Given the description of an element on the screen output the (x, y) to click on. 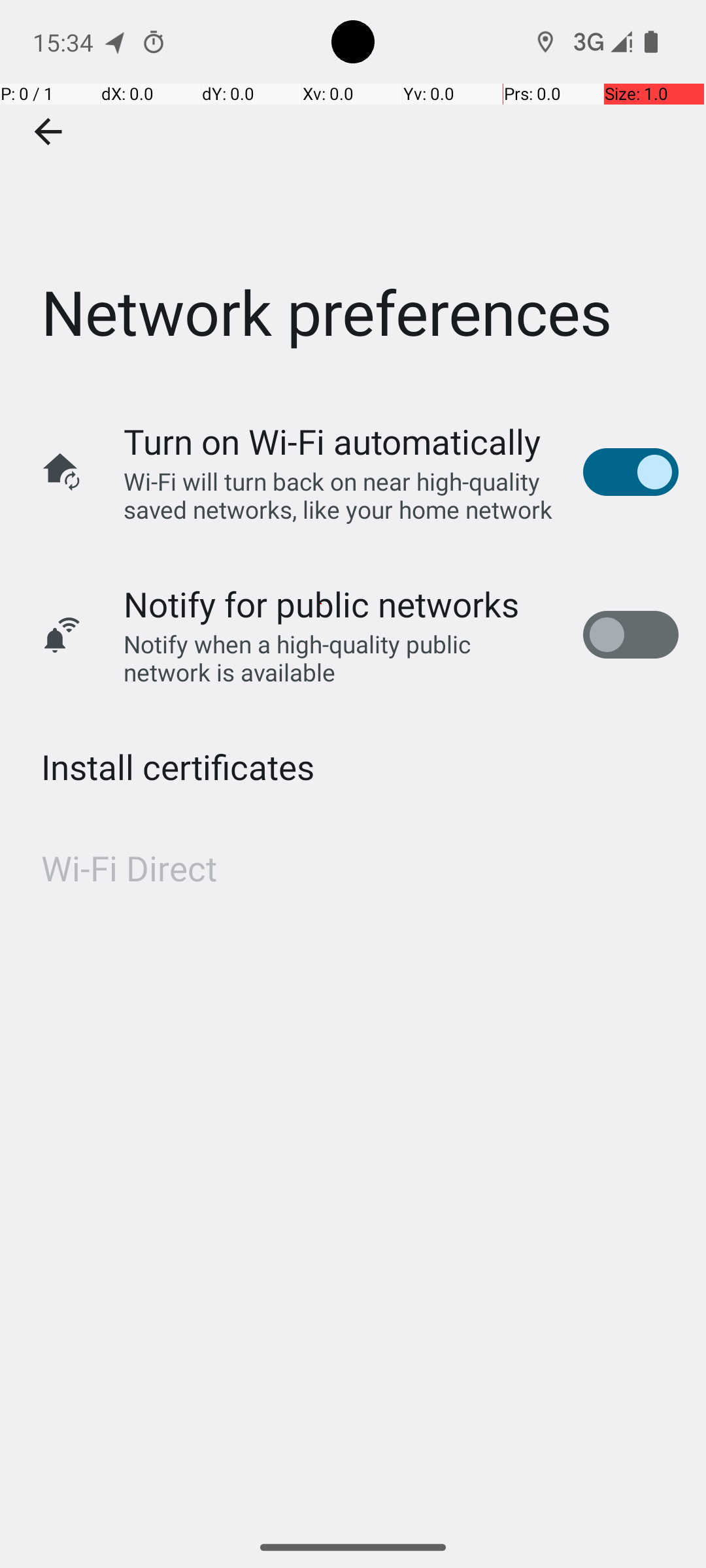
Turn on Wi‑Fi automatically Element type: android.widget.TextView (332, 441)
Wi‑Fi will turn back on near high‑quality saved networks, like your home network Element type: android.widget.TextView (339, 494)
Notify for public networks Element type: android.widget.TextView (321, 603)
Notify when a high‑quality public network is available Element type: android.widget.TextView (339, 657)
Install certificates Element type: android.widget.TextView (178, 766)
Wi‑Fi Direct Element type: android.widget.TextView (129, 867)
